Given the description of an element on the screen output the (x, y) to click on. 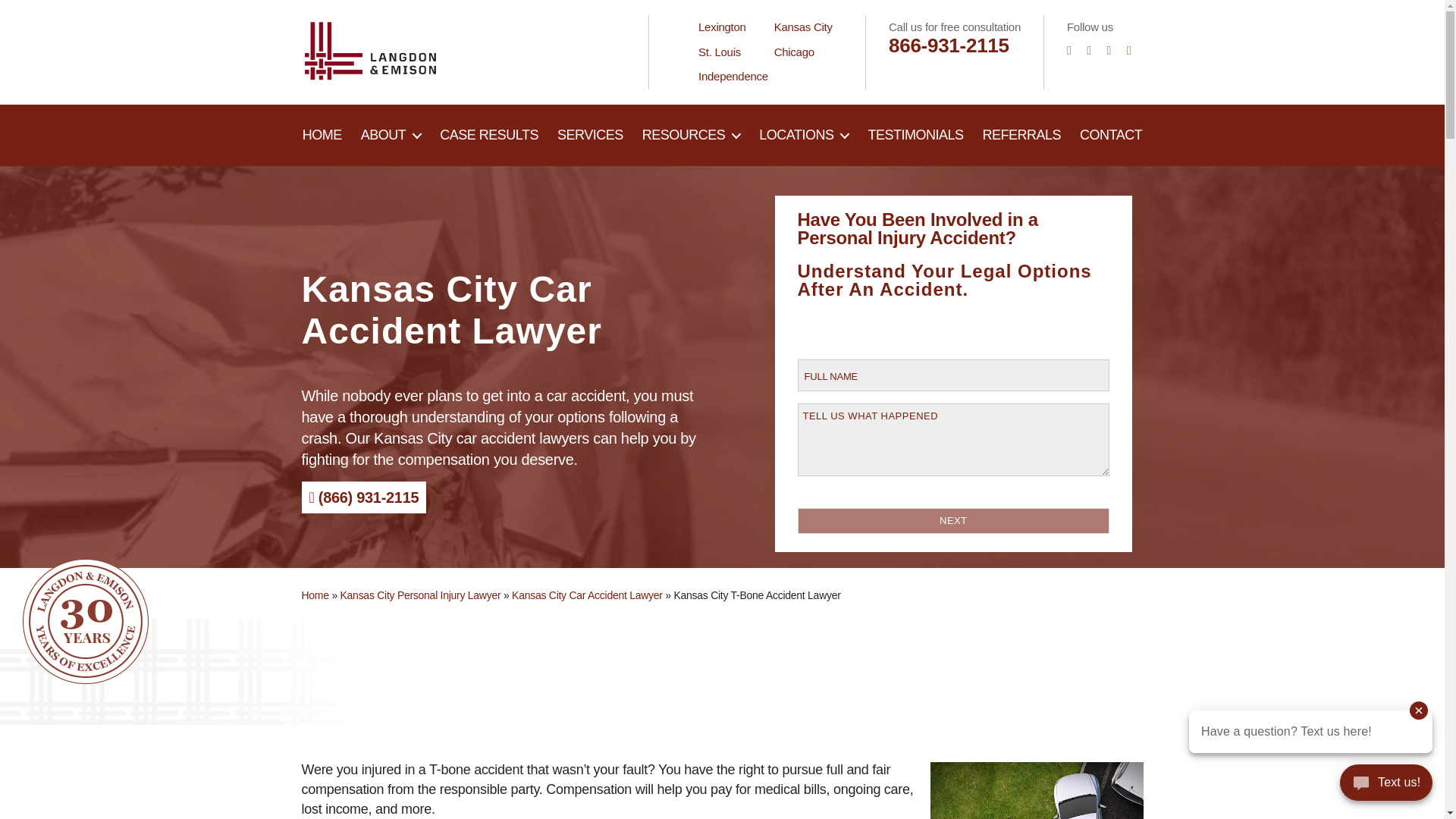
RESOURCES (691, 135)
About (391, 135)
About (322, 135)
ABOUT (391, 135)
Resources (691, 135)
Chicago (793, 51)
SERVICES (590, 135)
St. Louis (719, 51)
Lexington (721, 26)
Independence (733, 75)
Services (590, 135)
CASE RESULTS (488, 135)
Kansas City (803, 26)
Next (953, 520)
LOCATIONS (803, 135)
